Given the description of an element on the screen output the (x, y) to click on. 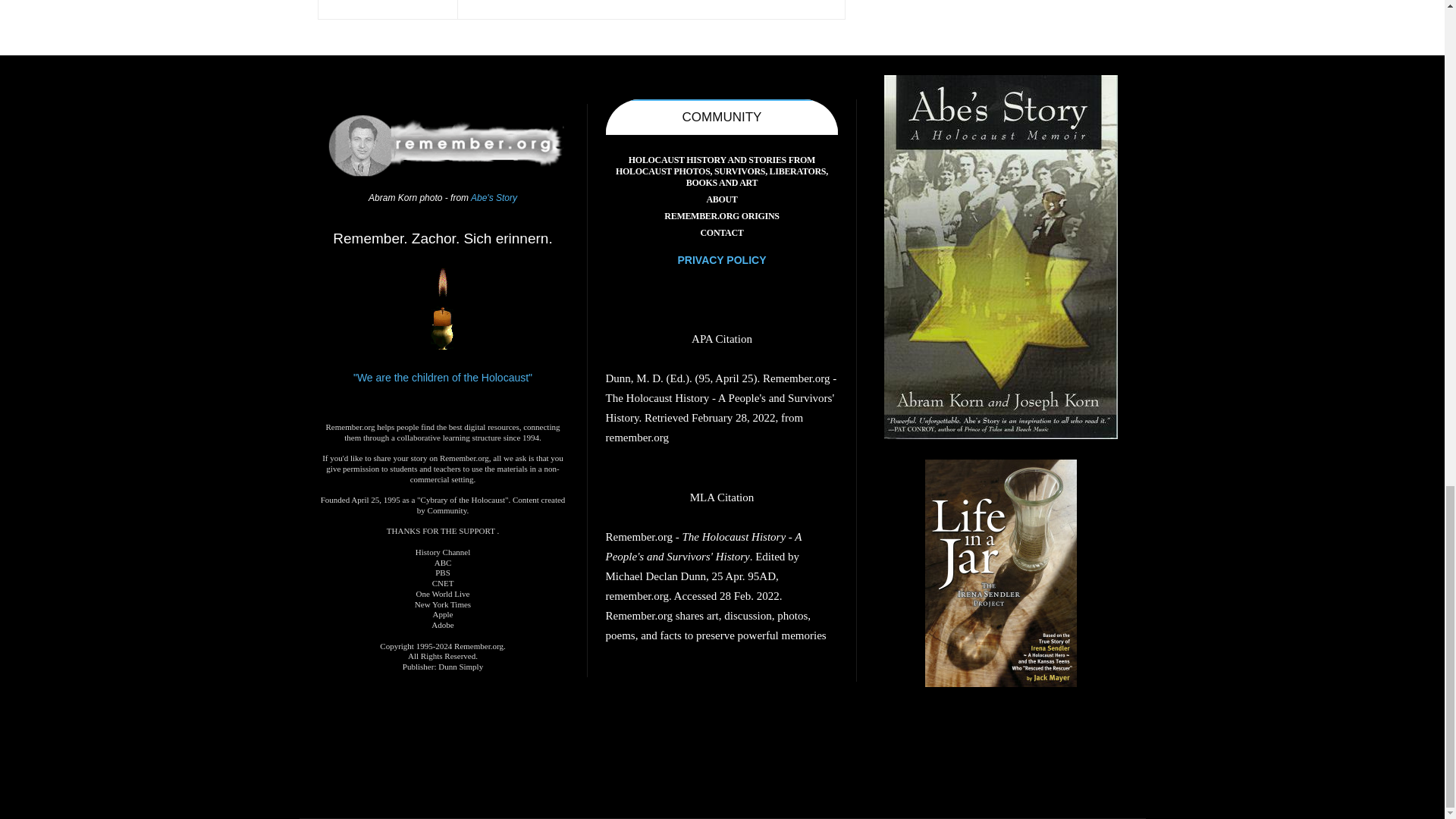
holocausthistoryretina (443, 145)
